Given the description of an element on the screen output the (x, y) to click on. 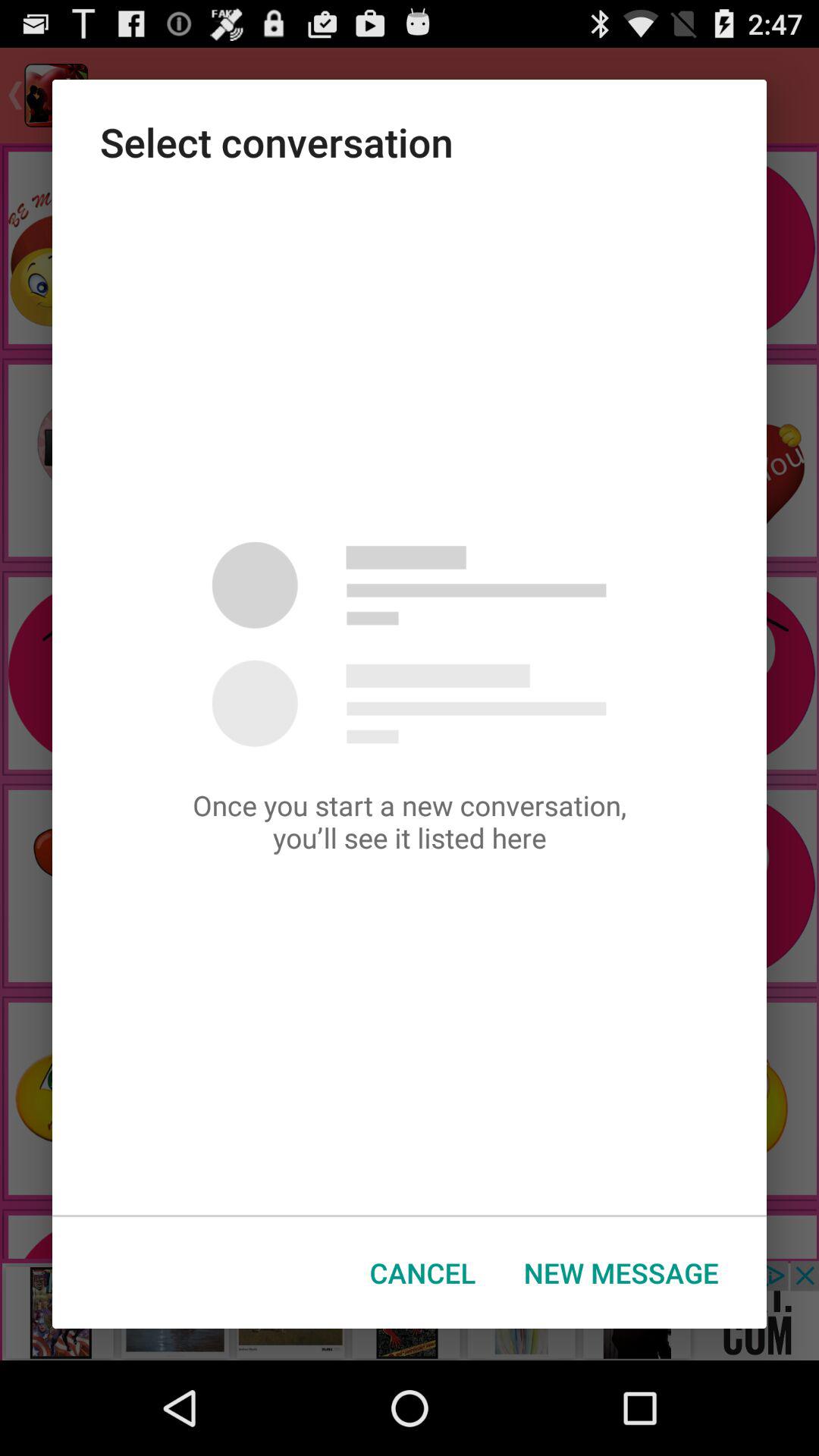
tap the button next to the new message item (422, 1272)
